Given the description of an element on the screen output the (x, y) to click on. 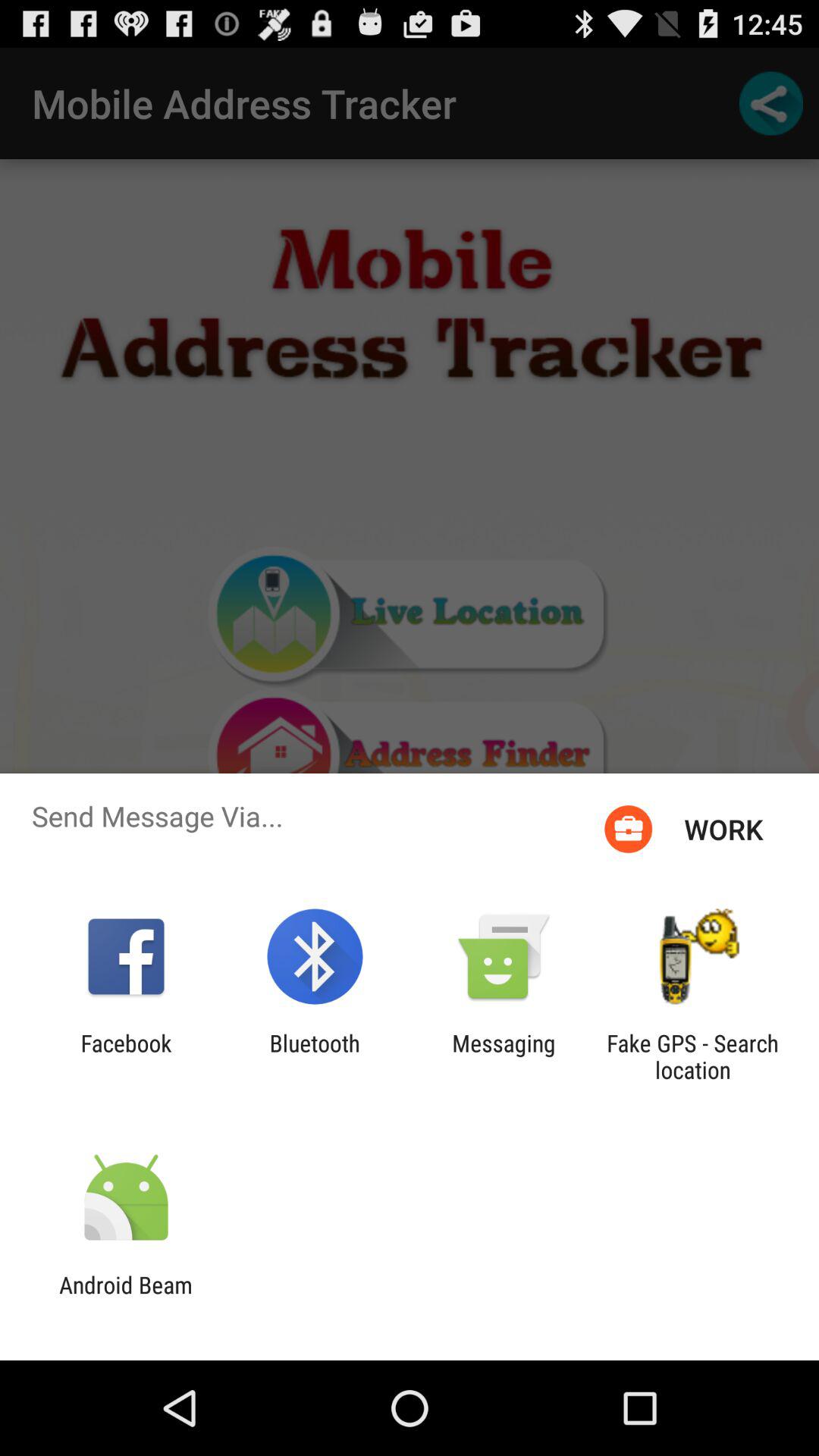
tap the messaging icon (503, 1056)
